Given the description of an element on the screen output the (x, y) to click on. 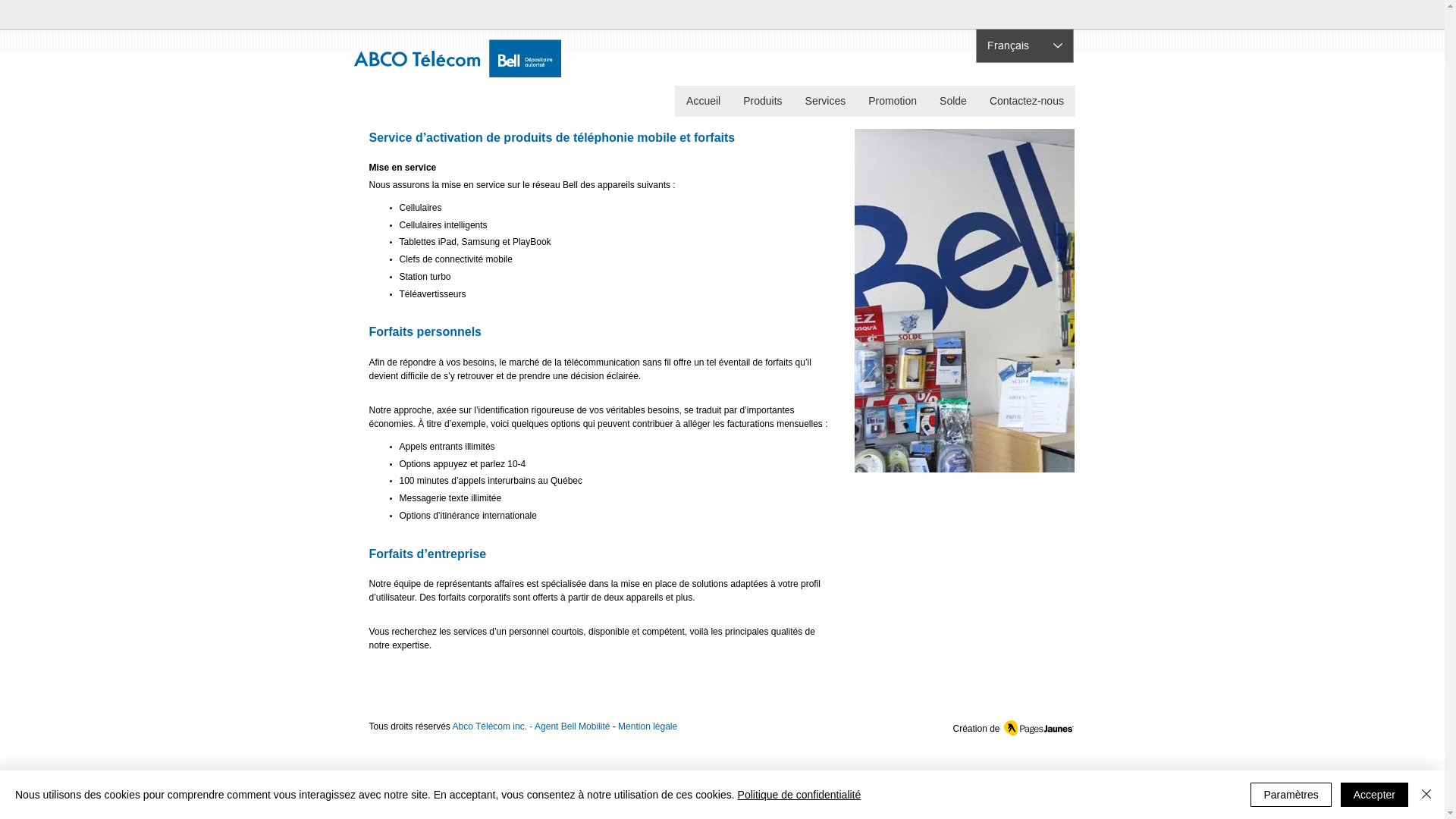
Contactez-nous Element type: text (1026, 100)
Embedded Content Element type: hover (946, 14)
Solde Element type: text (953, 100)
Accueil Element type: text (702, 100)
Services Element type: text (825, 100)
Produits Element type: text (762, 100)
Accepter Element type: text (1374, 794)
Embedded Content Element type: hover (1045, 15)
Promotion Element type: text (892, 100)
